Given the description of an element on the screen output the (x, y) to click on. 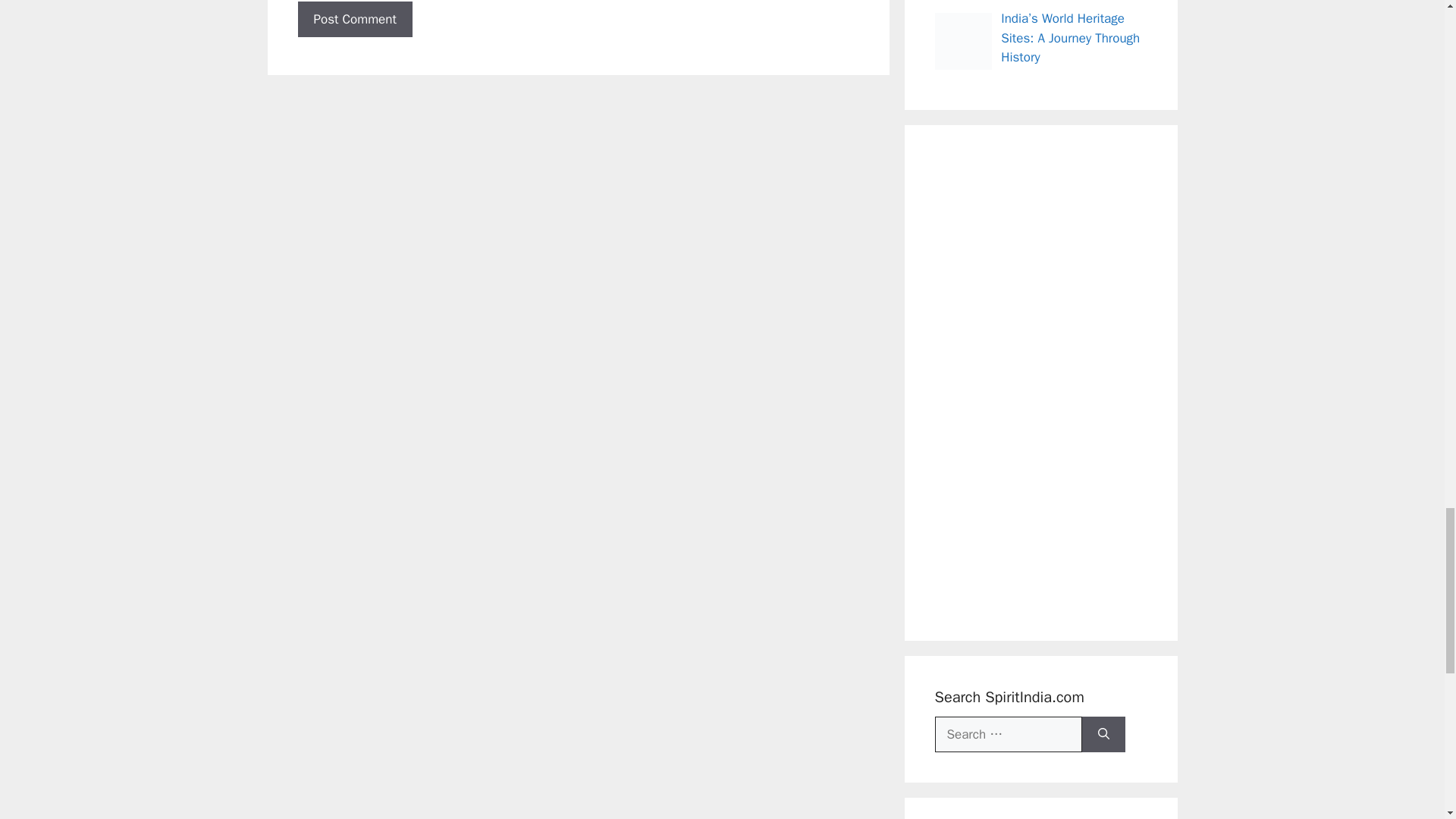
Search for: (1007, 734)
Post Comment (354, 19)
Post Comment (354, 19)
